Given the description of an element on the screen output the (x, y) to click on. 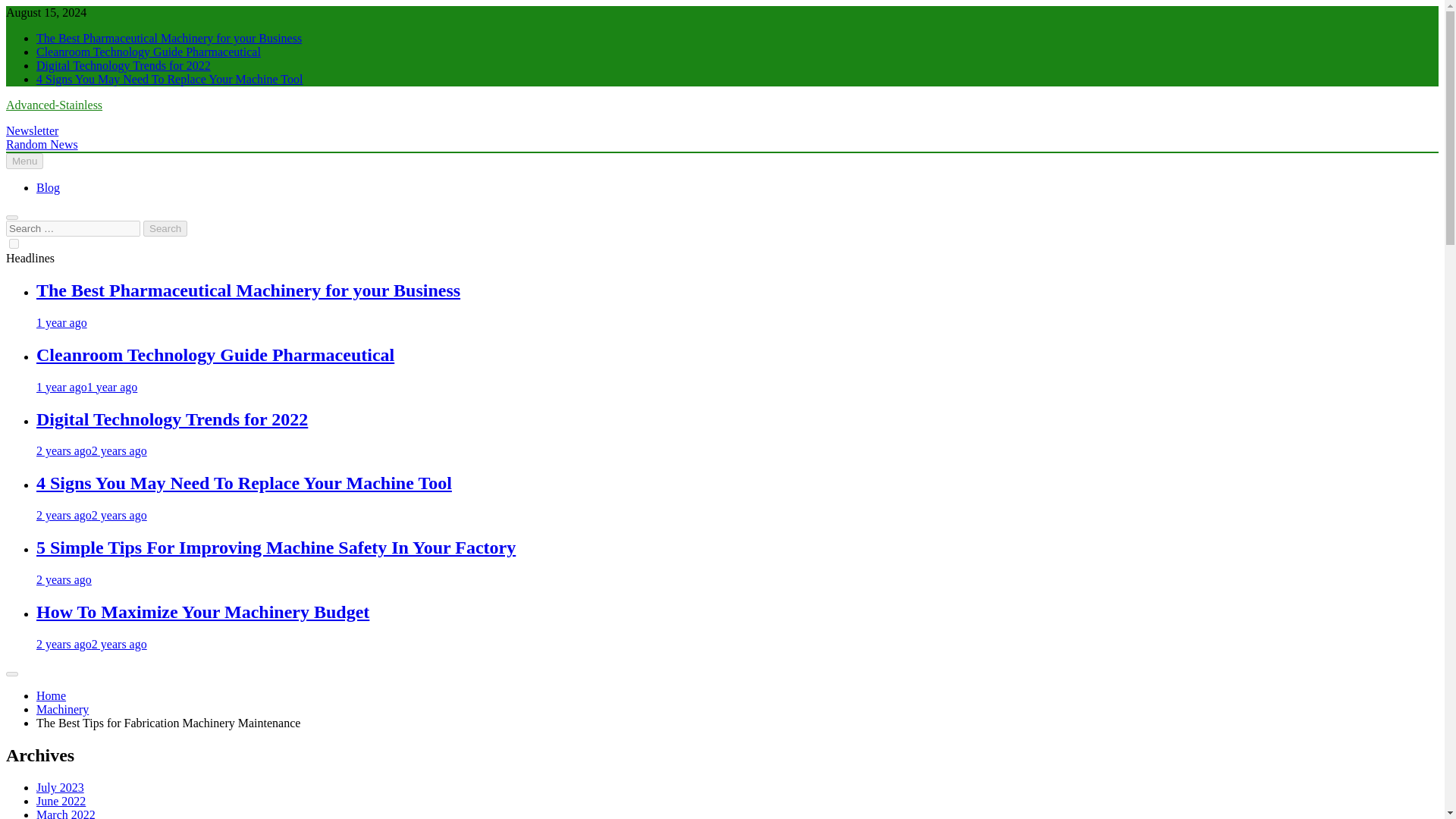
Cleanroom Technology Guide Pharmaceutical (215, 354)
Digital Technology Trends for 2022 (123, 65)
4 Signs You May Need To Replace Your Machine Tool (243, 483)
How To Maximize Your Machinery Budget (202, 611)
5 Simple Tips For Improving Machine Safety In Your Factory (275, 547)
Menu (24, 160)
2 years ago (63, 579)
2 years ago2 years ago (91, 514)
4 Signs You May Need To Replace Your Machine Tool (169, 78)
Random News (41, 144)
